Given the description of an element on the screen output the (x, y) to click on. 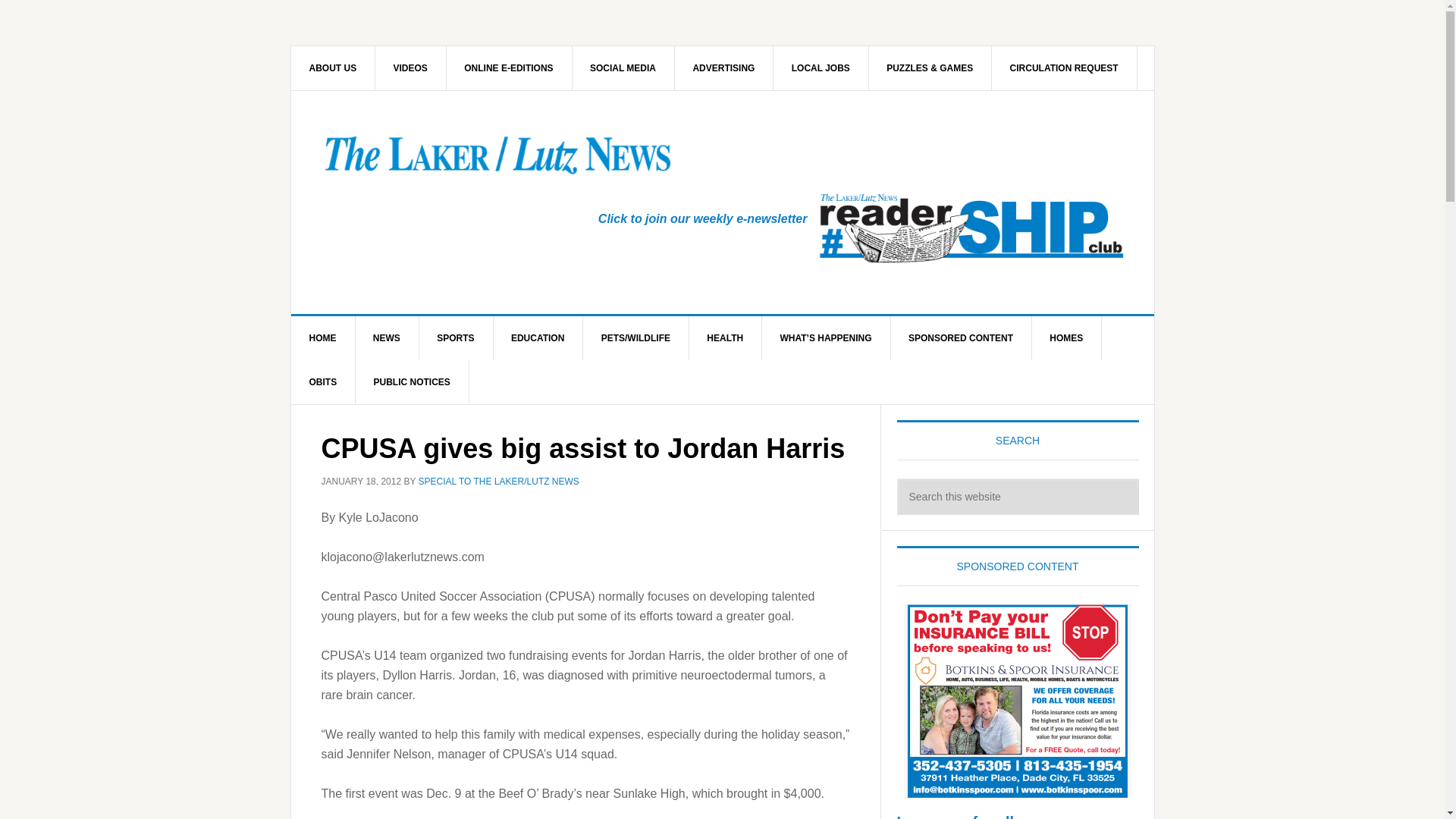
ABOUT US (333, 67)
LOCAL JOBS (821, 67)
ADVERTISING (723, 67)
CIRCULATION REQUEST (1064, 67)
Click to join our weekly e-newsletter (703, 218)
SOCIAL MEDIA (623, 67)
VIDEOS (410, 67)
HOME (323, 338)
NEWS (387, 338)
